Given the description of an element on the screen output the (x, y) to click on. 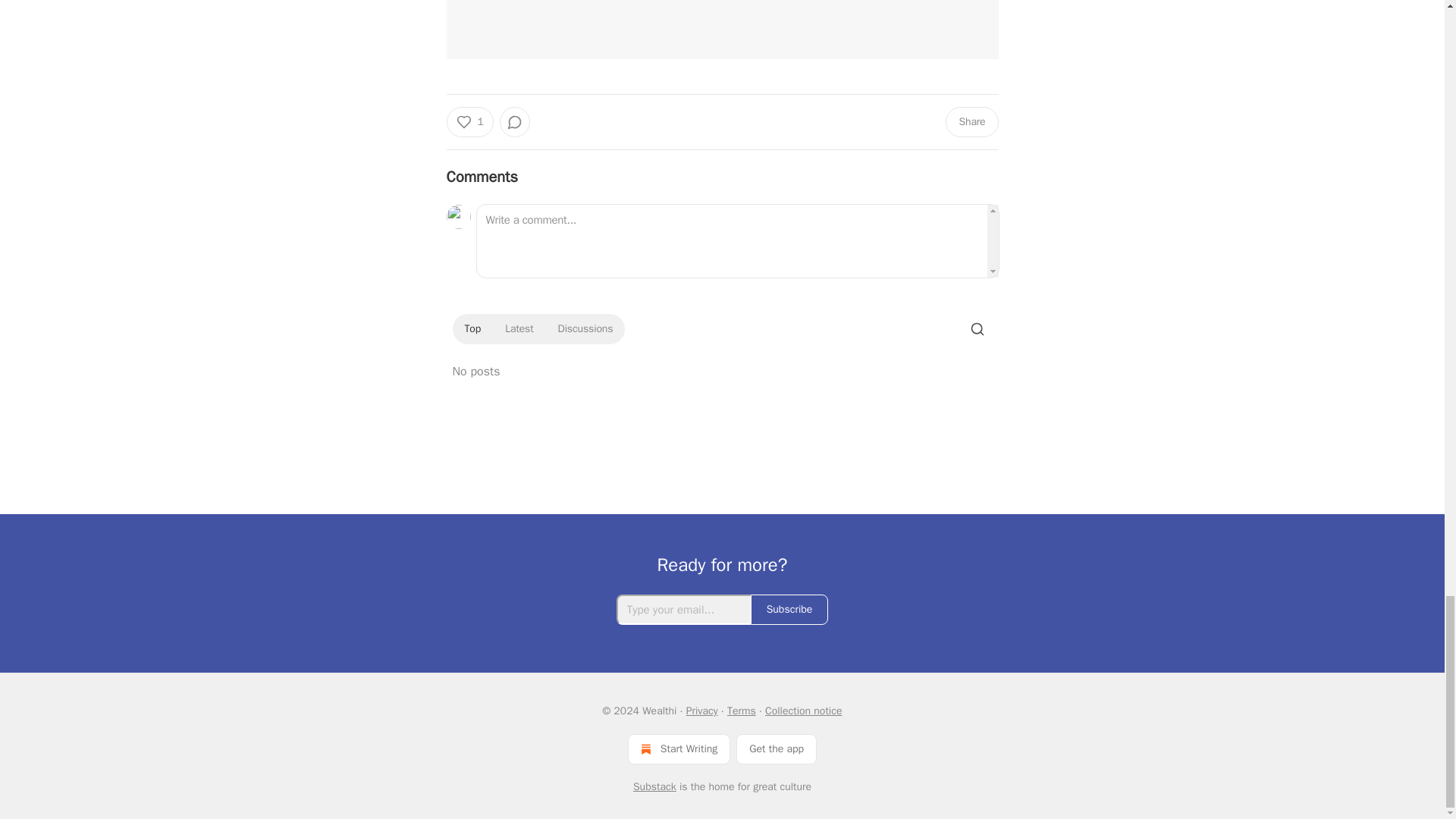
1 (469, 122)
Discussions (585, 328)
Latest (518, 328)
Privacy (701, 710)
Share (970, 122)
Top (471, 328)
Subscribe (789, 609)
Terms (740, 710)
